Given the description of an element on the screen output the (x, y) to click on. 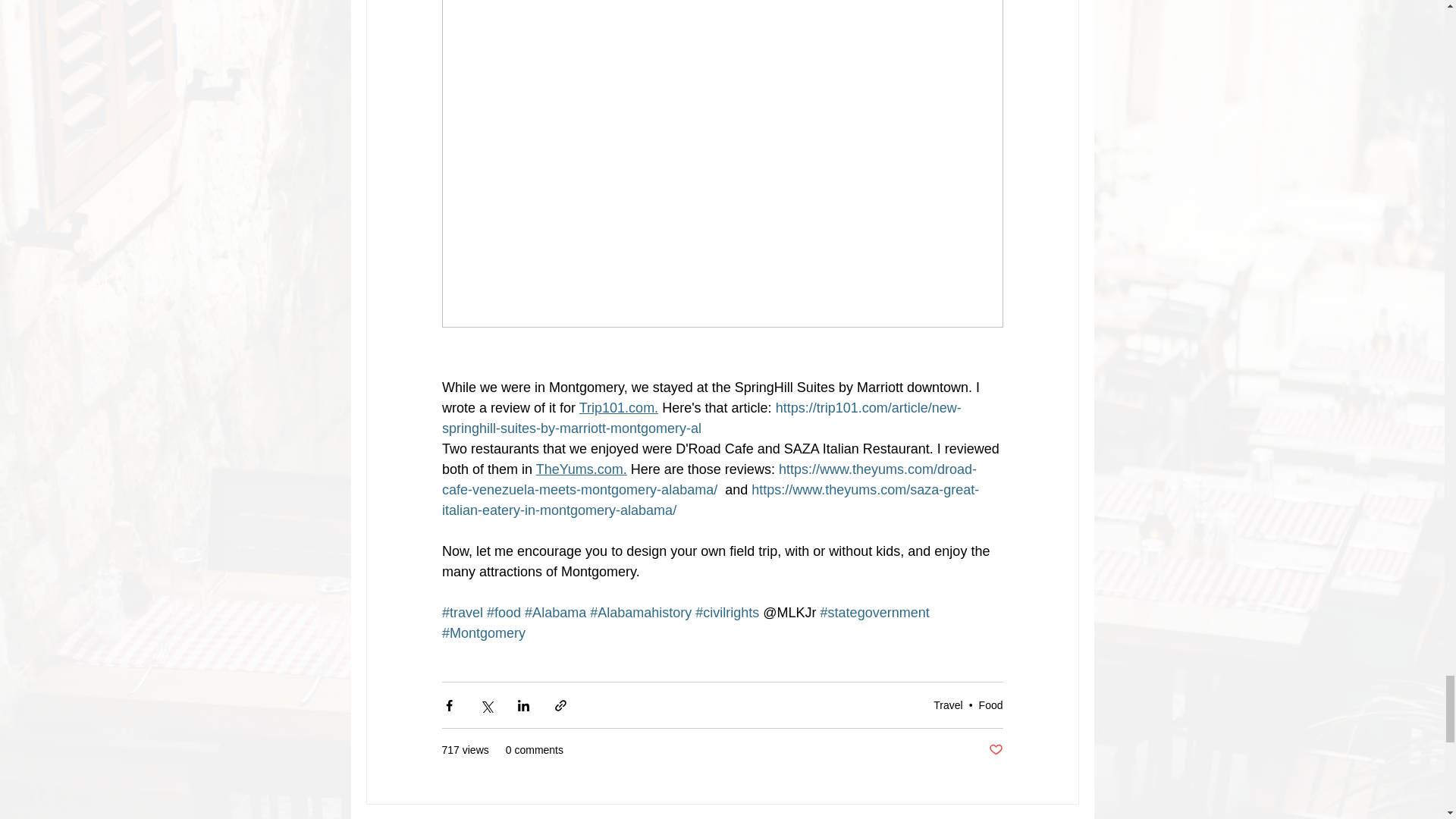
TheYums.com. (580, 468)
Trip101.com. (618, 407)
